Given the description of an element on the screen output the (x, y) to click on. 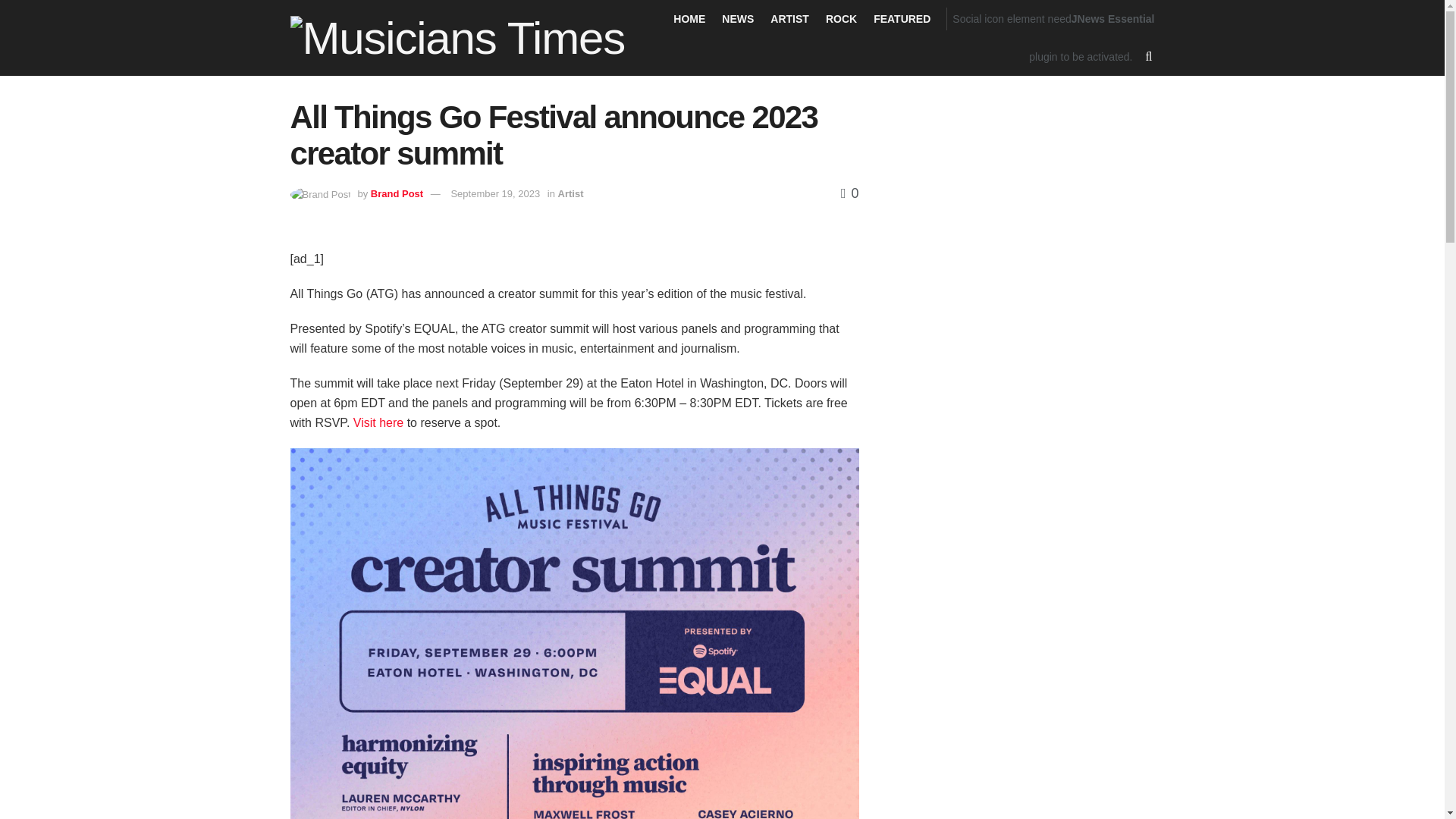
Visit here (378, 422)
ARTIST (789, 18)
September 19, 2023 (494, 193)
Artist (570, 193)
FEATURED (901, 18)
0 (850, 192)
Brand Post (397, 193)
